Given the description of an element on the screen output the (x, y) to click on. 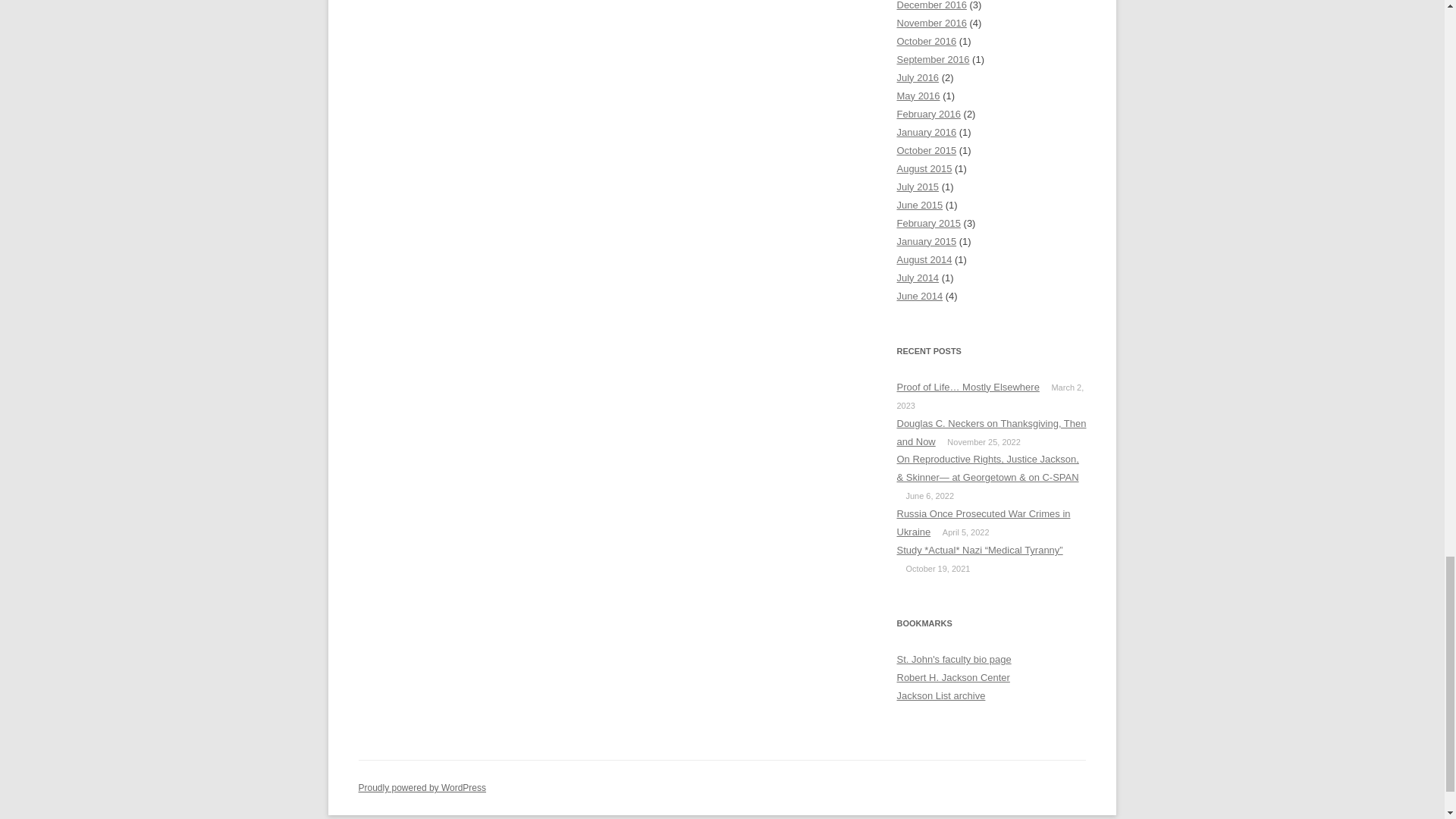
Semantic Personal Publishing Platform (422, 787)
